Given the description of an element on the screen output the (x, y) to click on. 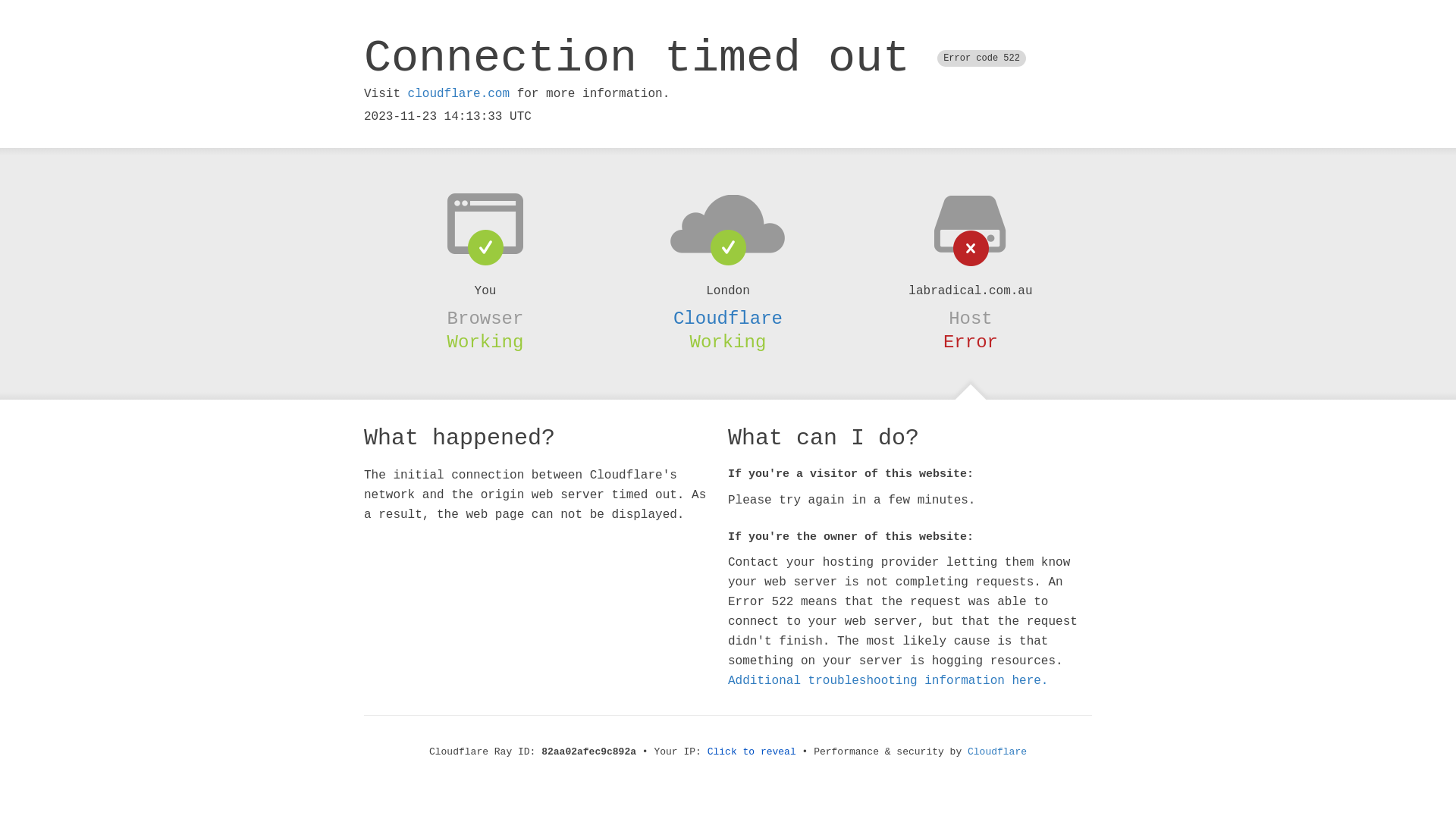
Click to reveal Element type: text (751, 751)
Cloudflare Element type: text (996, 751)
Additional troubleshooting information here. Element type: text (888, 680)
Cloudflare Element type: text (727, 318)
cloudflare.com Element type: text (458, 93)
